Given the description of an element on the screen output the (x, y) to click on. 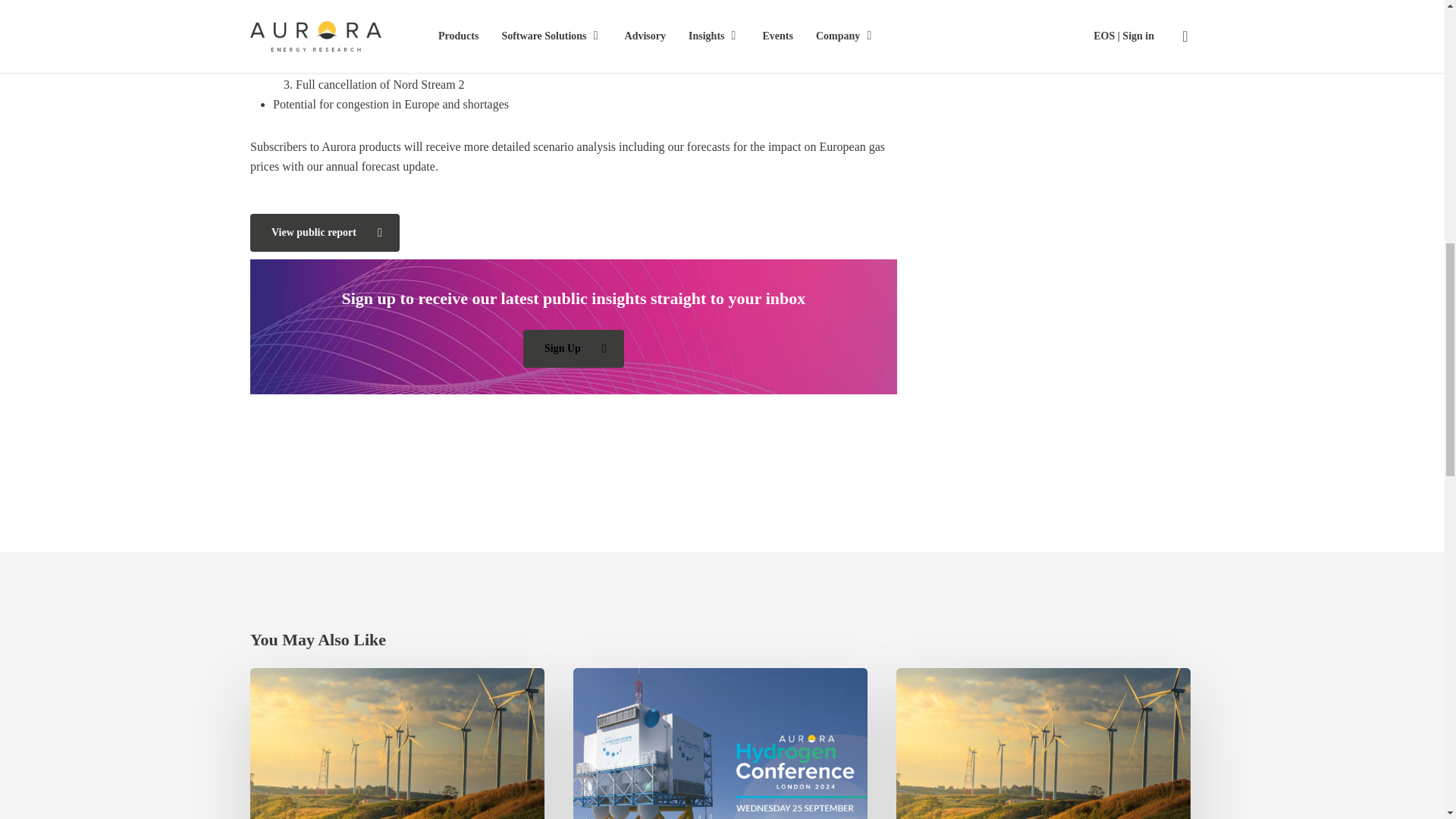
View public report (324, 232)
Sign Up (573, 347)
